Given the description of an element on the screen output the (x, y) to click on. 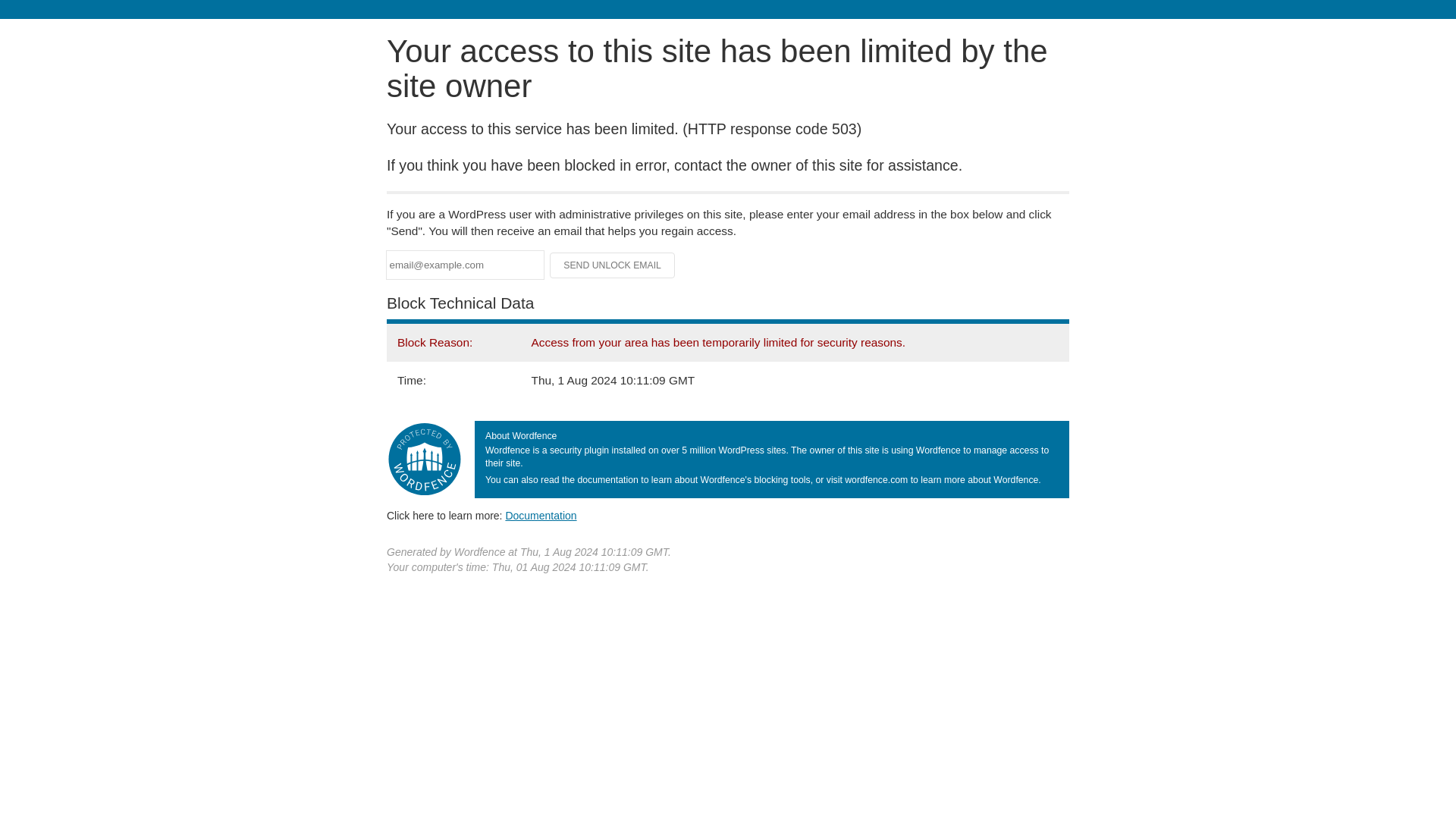
Send Unlock Email (612, 265)
Documentation (540, 515)
Send Unlock Email (612, 265)
